Given the description of an element on the screen output the (x, y) to click on. 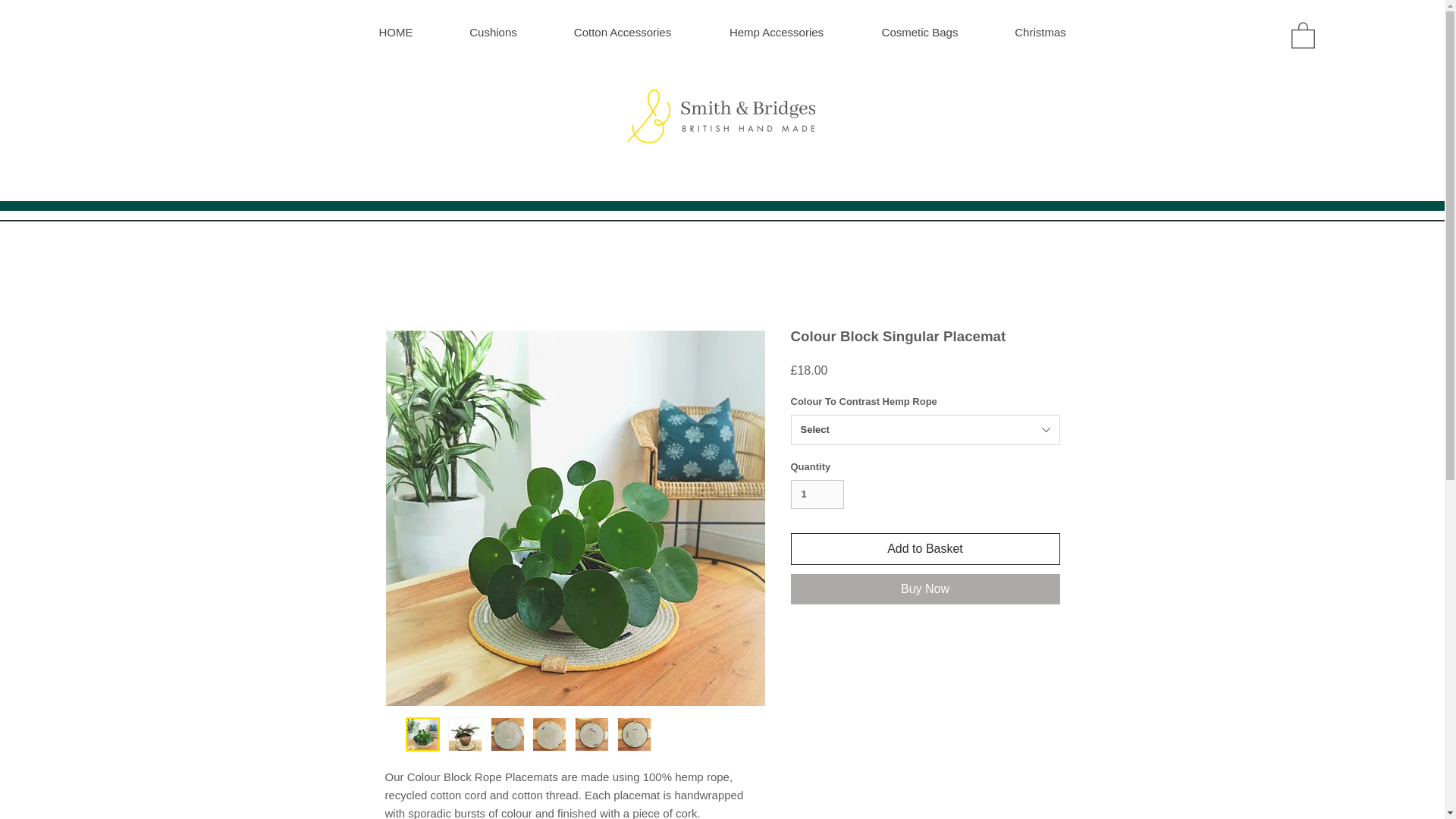
Select (924, 429)
HOME (395, 32)
Hemp Accessories (774, 32)
Buy Now (924, 589)
Cosmetic Bags (918, 32)
Cotton Accessories (621, 32)
1 (817, 493)
Add to Basket (924, 549)
Cushions (492, 32)
Christmas (1039, 32)
